Given the description of an element on the screen output the (x, y) to click on. 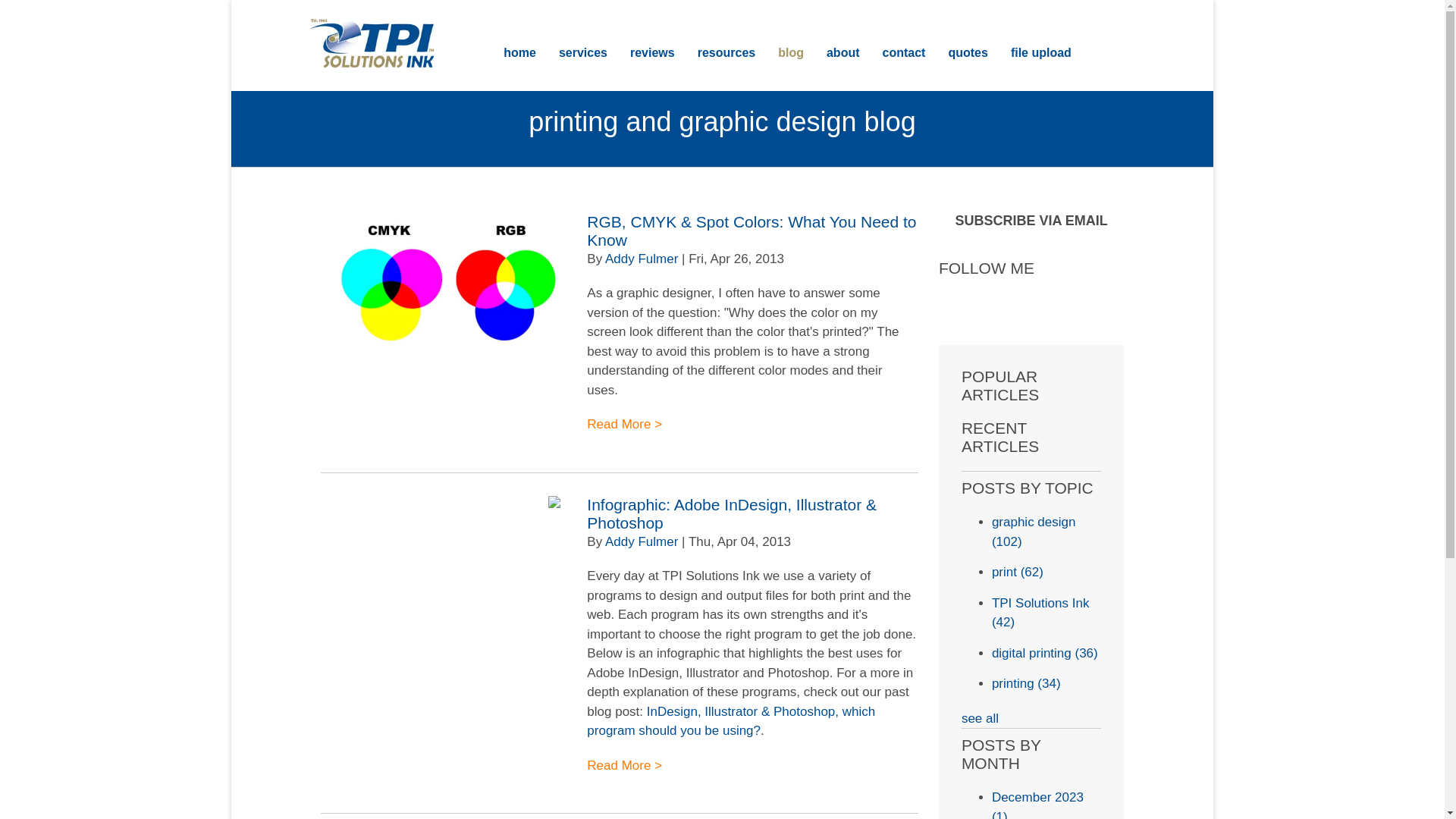
services (583, 53)
resources (726, 53)
reviews (652, 53)
about (843, 53)
contact (904, 53)
Follow us on Pinterest (950, 304)
Addy Fulmer (641, 541)
Addy Fulmer (641, 258)
blog (790, 53)
home (519, 53)
